Given the description of an element on the screen output the (x, y) to click on. 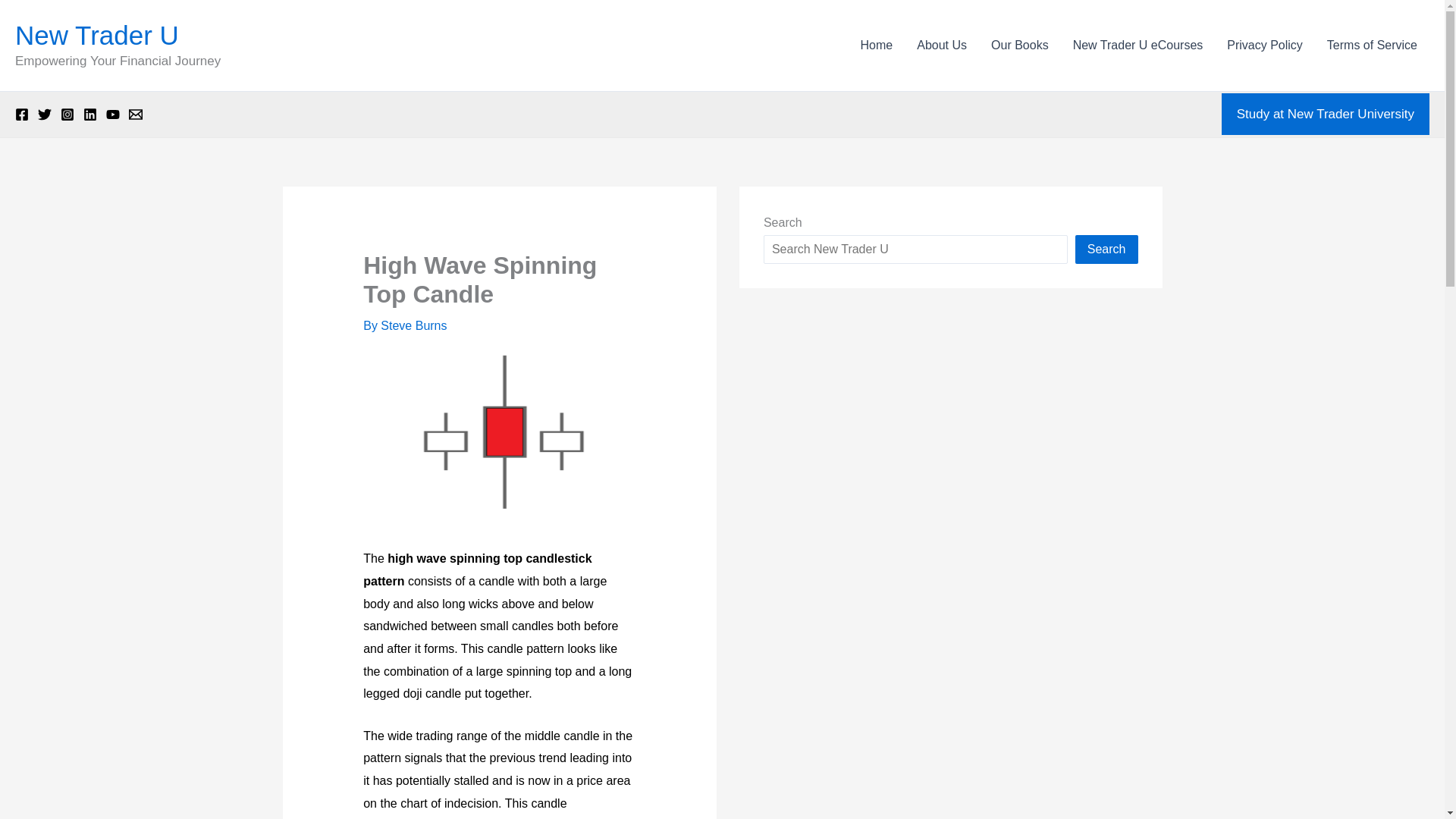
Steve Burns (413, 325)
New Trader U eCourses (1138, 45)
New Trader U (96, 34)
Our Books (1019, 45)
About Us (941, 45)
Study at New Trader University (1325, 114)
Terms of Service (1371, 45)
Privacy Policy (1264, 45)
View all posts by Steve Burns (413, 325)
Home (876, 45)
